Given the description of an element on the screen output the (x, y) to click on. 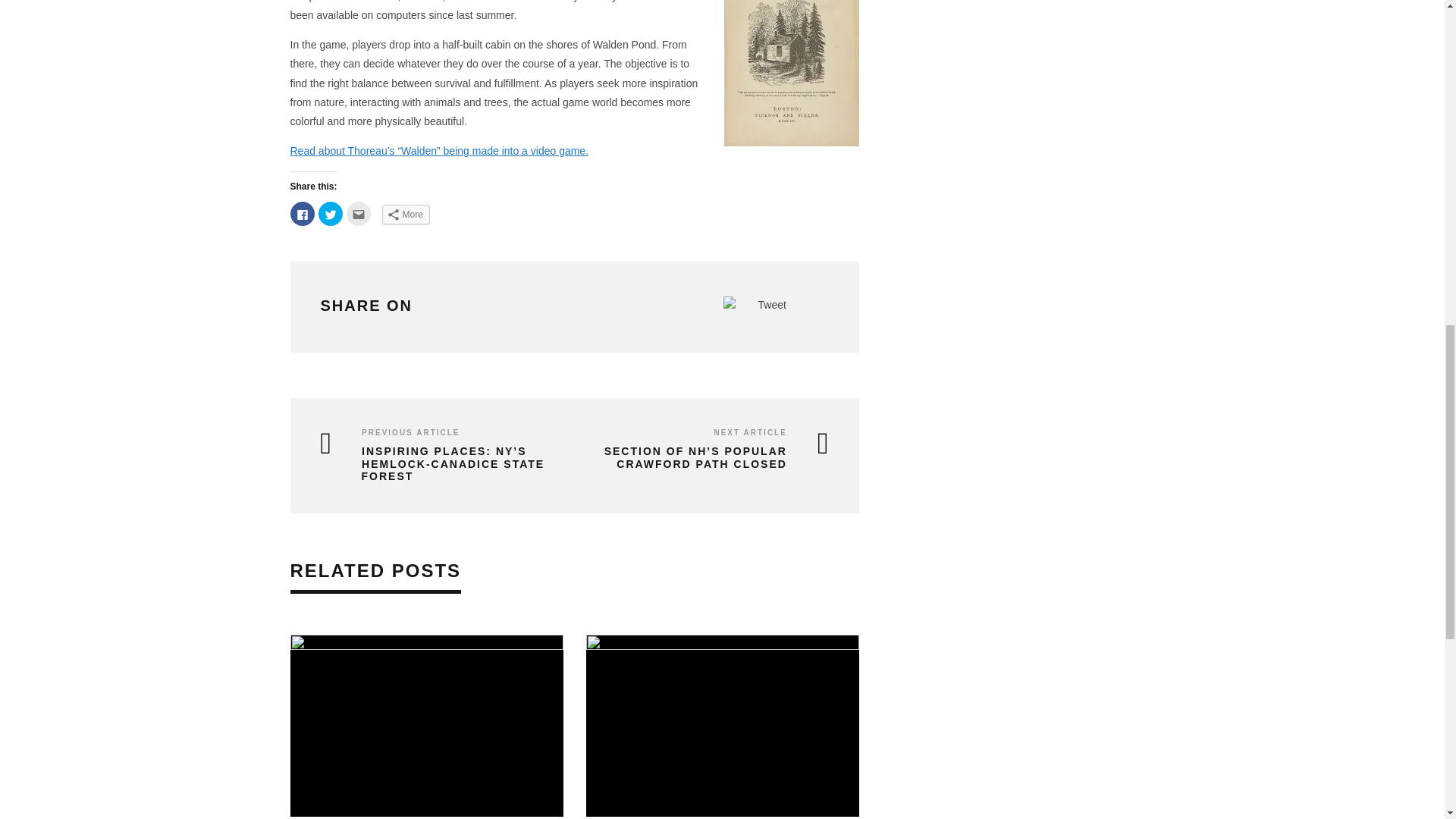
Tweet (772, 304)
Click to share on Facebook (301, 213)
Click to email this to a friend (357, 213)
More (405, 214)
PREVIOUS ARTICLE (410, 432)
Click to share on Twitter (330, 213)
NEXT ARTICLE (749, 432)
